Given the description of an element on the screen output the (x, y) to click on. 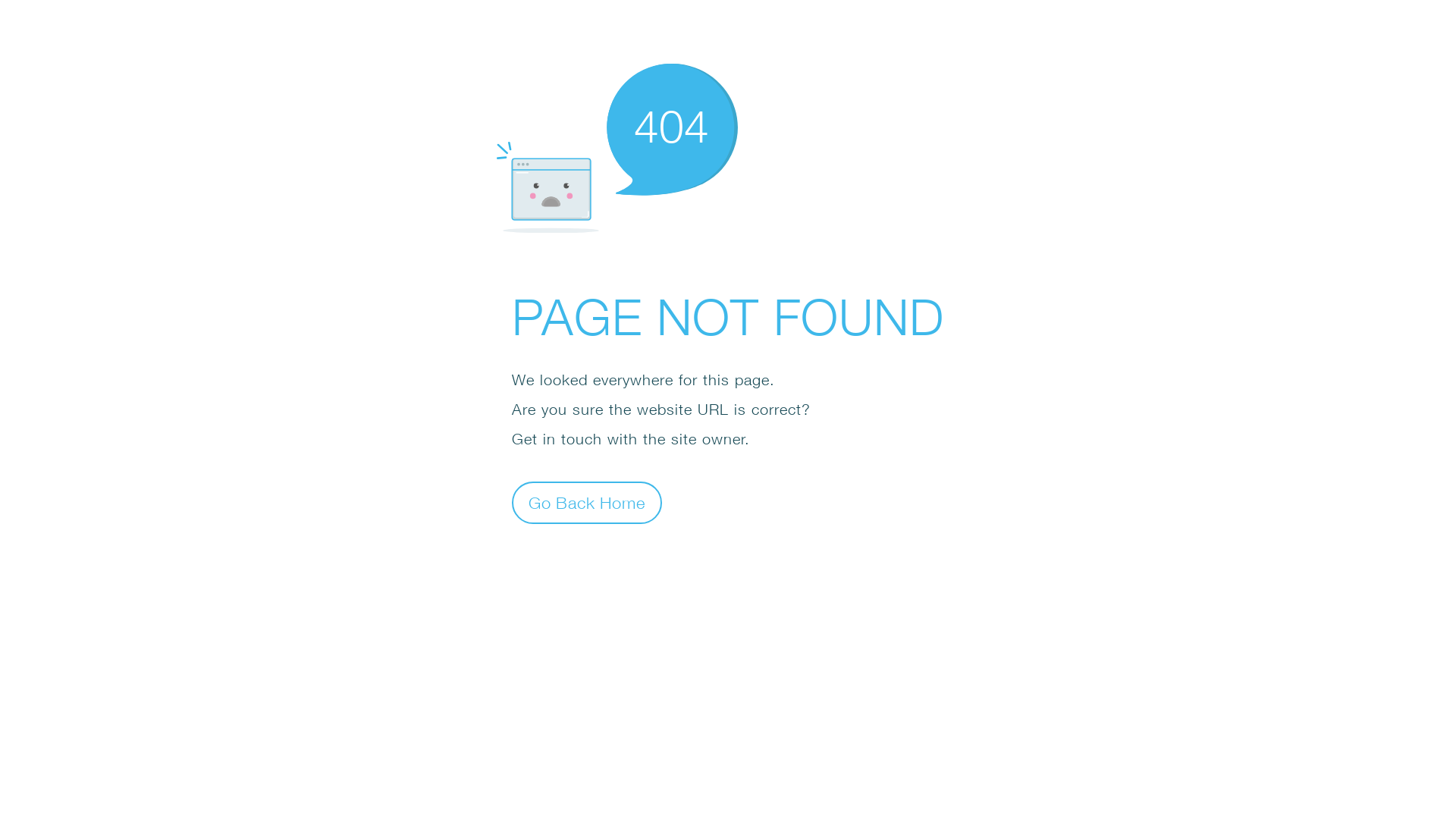
Go Back Home Element type: text (586, 502)
